Given the description of an element on the screen output the (x, y) to click on. 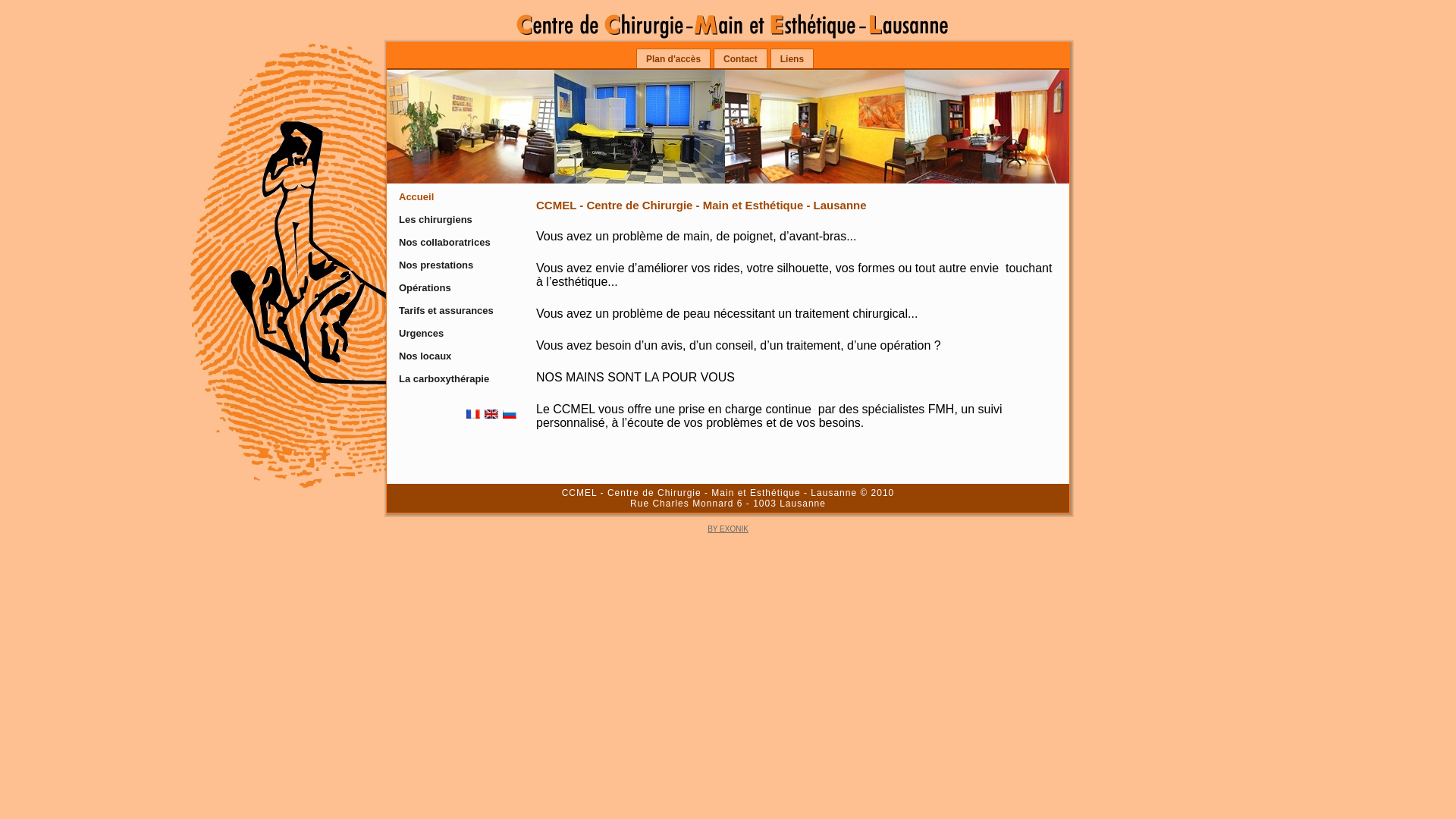
Nos prestations Element type: text (454, 265)
Tarifs et assurances Element type: text (454, 310)
Nos locaux Element type: text (454, 356)
BY EXONIK Element type: text (727, 528)
Nos collaboratrices Element type: text (454, 242)
Liens Element type: text (791, 58)
Contact Element type: text (740, 58)
Les chirurgiens Element type: text (454, 219)
English (EN) Element type: hover (490, 413)
Accueil Element type: text (454, 197)
Urgences Element type: text (454, 333)
Russian (CIS) Element type: hover (509, 413)
